Given the description of an element on the screen output the (x, y) to click on. 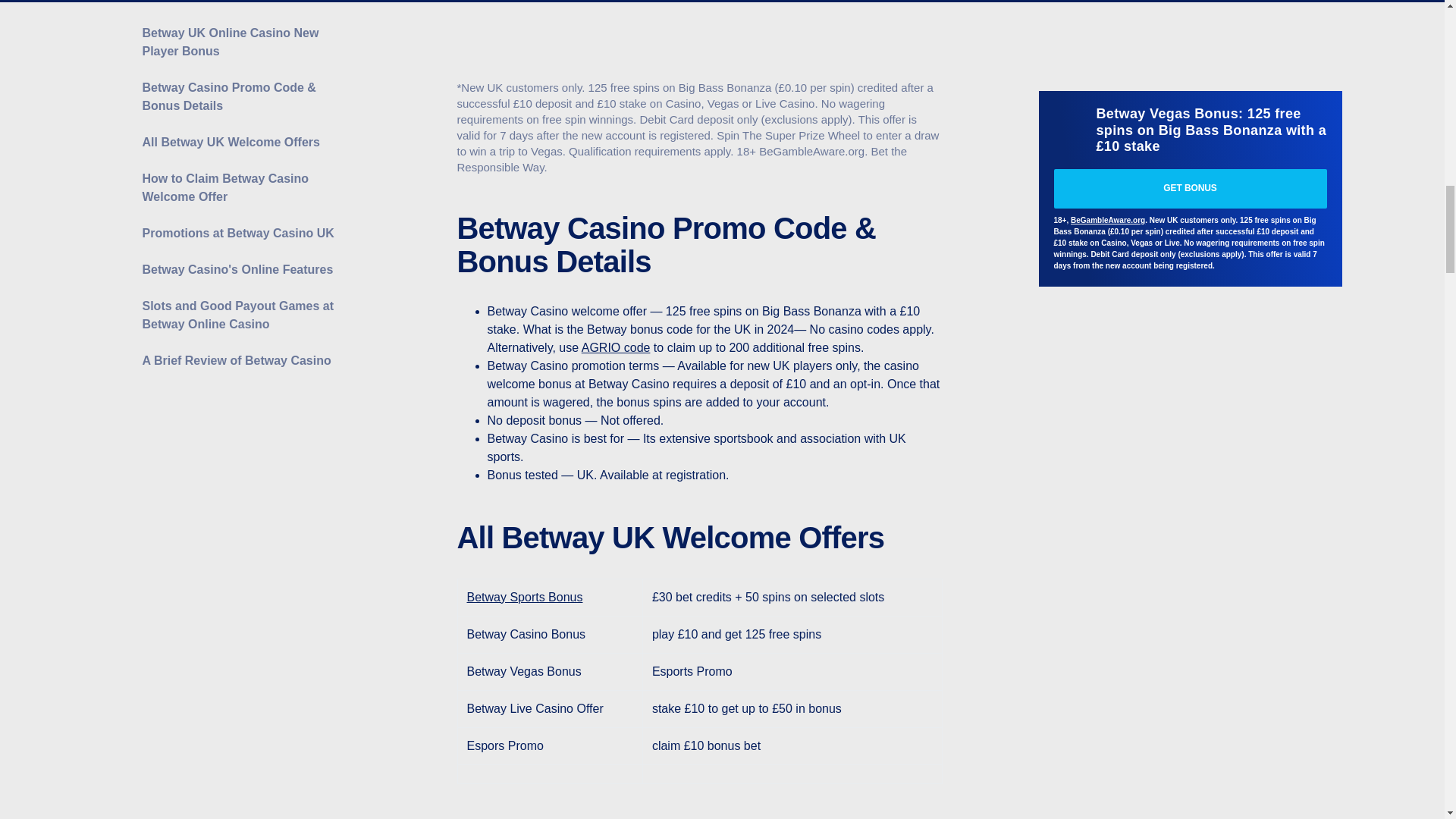
AGRIO code (615, 347)
BetWay-Casino-Bonus-Code-and-Welcome-Offer - aGamble.com (699, 36)
